Given the description of an element on the screen output the (x, y) to click on. 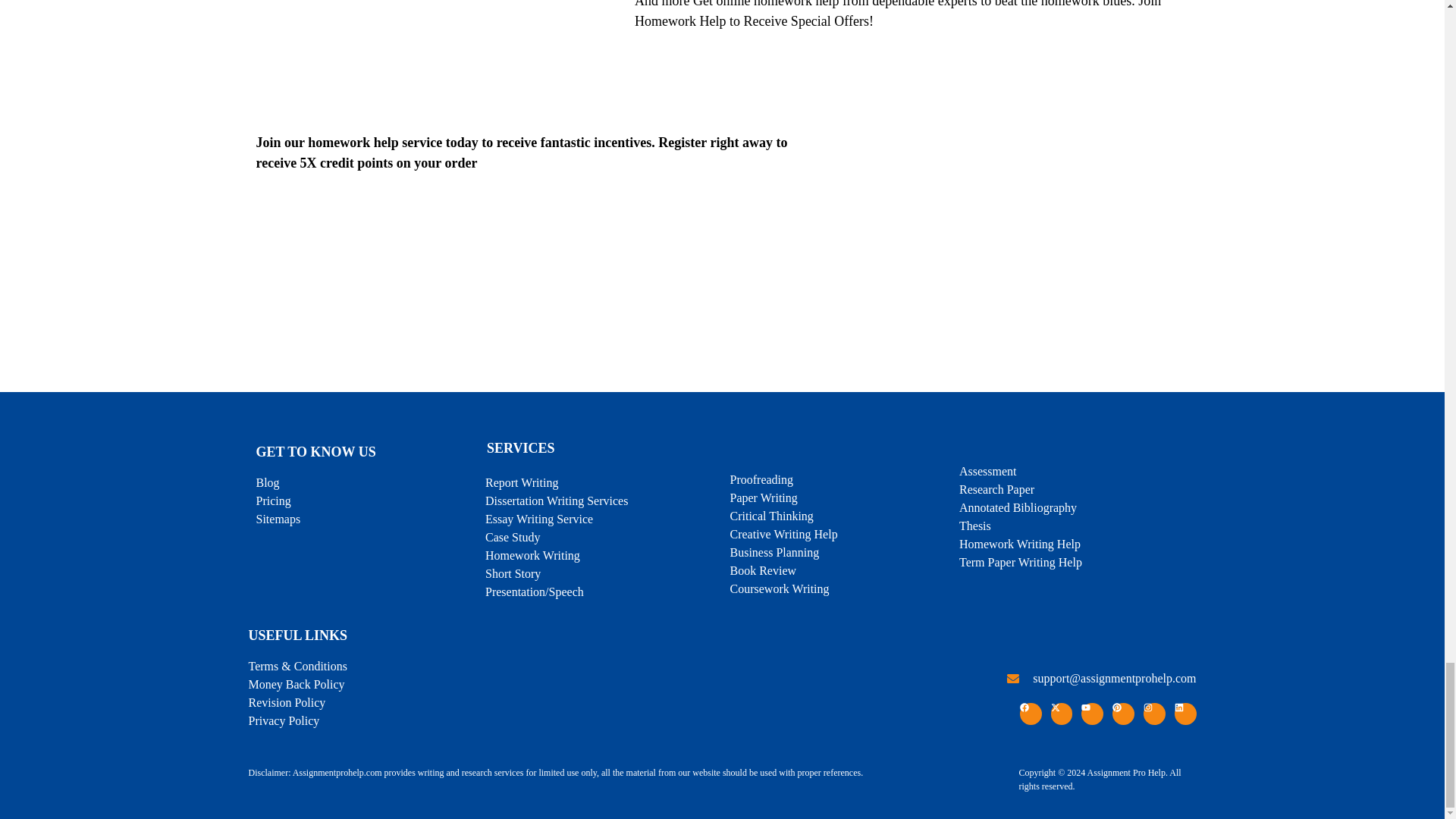
Proofreading (840, 479)
Homework Writing (603, 556)
Creative Writing Help (840, 534)
Report Writing (603, 464)
Sitemaps (278, 519)
Dissertation Writing Services (603, 501)
Blog (267, 483)
Short Story (603, 574)
Essay Writing Service (603, 519)
Critical Thinking (840, 515)
Case Study (603, 537)
Paper Writing (840, 497)
Pricing (273, 501)
